Given the description of an element on the screen output the (x, y) to click on. 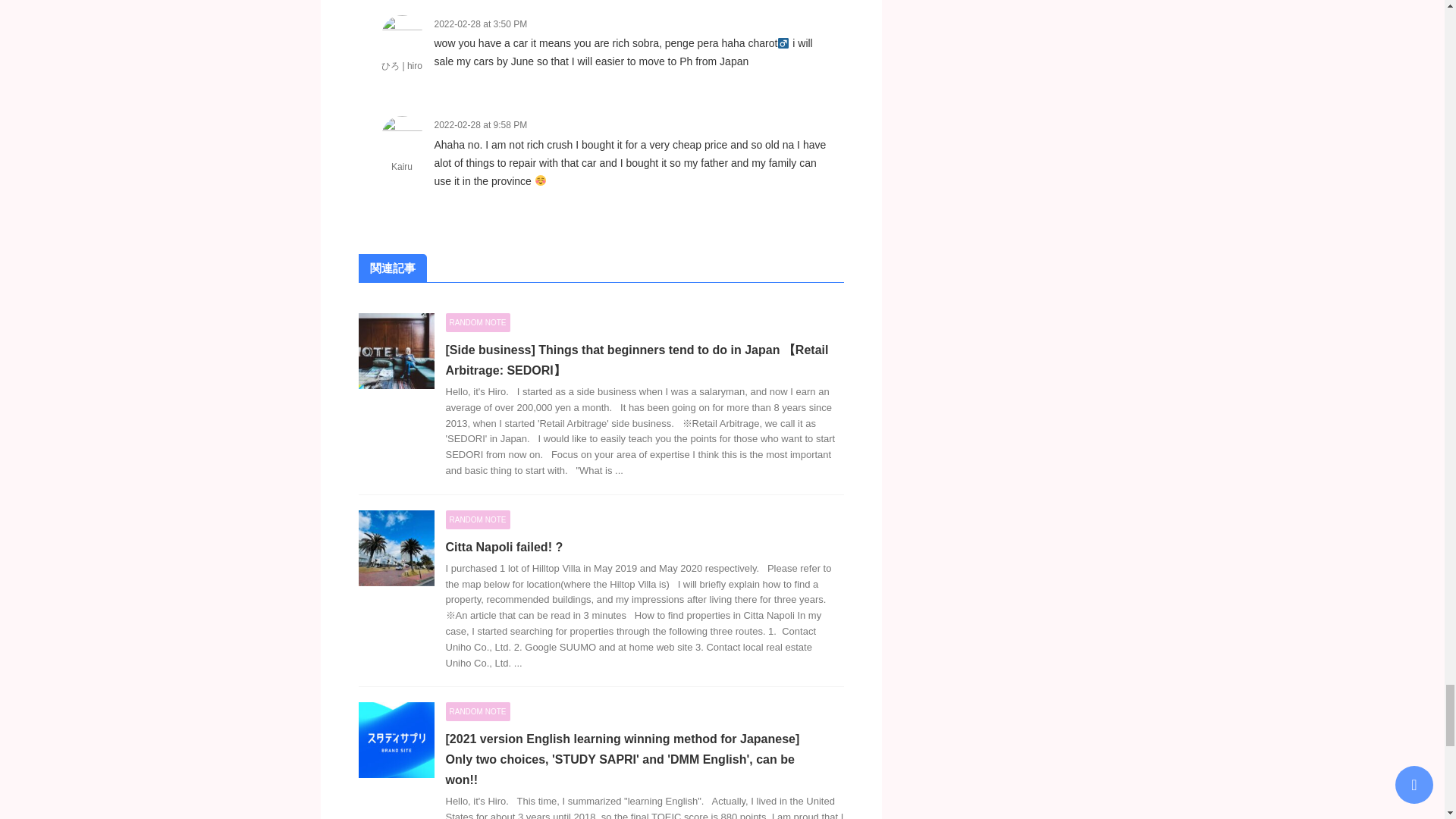
View all posts in RANDOM NOTE (478, 519)
2022-02-28 at 9:58 PM (480, 124)
RANDOM NOTE (478, 321)
2022-02-28 at 3:50 PM (480, 23)
RANDOM NOTE (478, 519)
View all posts in RANDOM NOTE (478, 321)
Citta Napoli failed! ? (504, 546)
View all posts in RANDOM NOTE (478, 710)
